Given the description of an element on the screen output the (x, y) to click on. 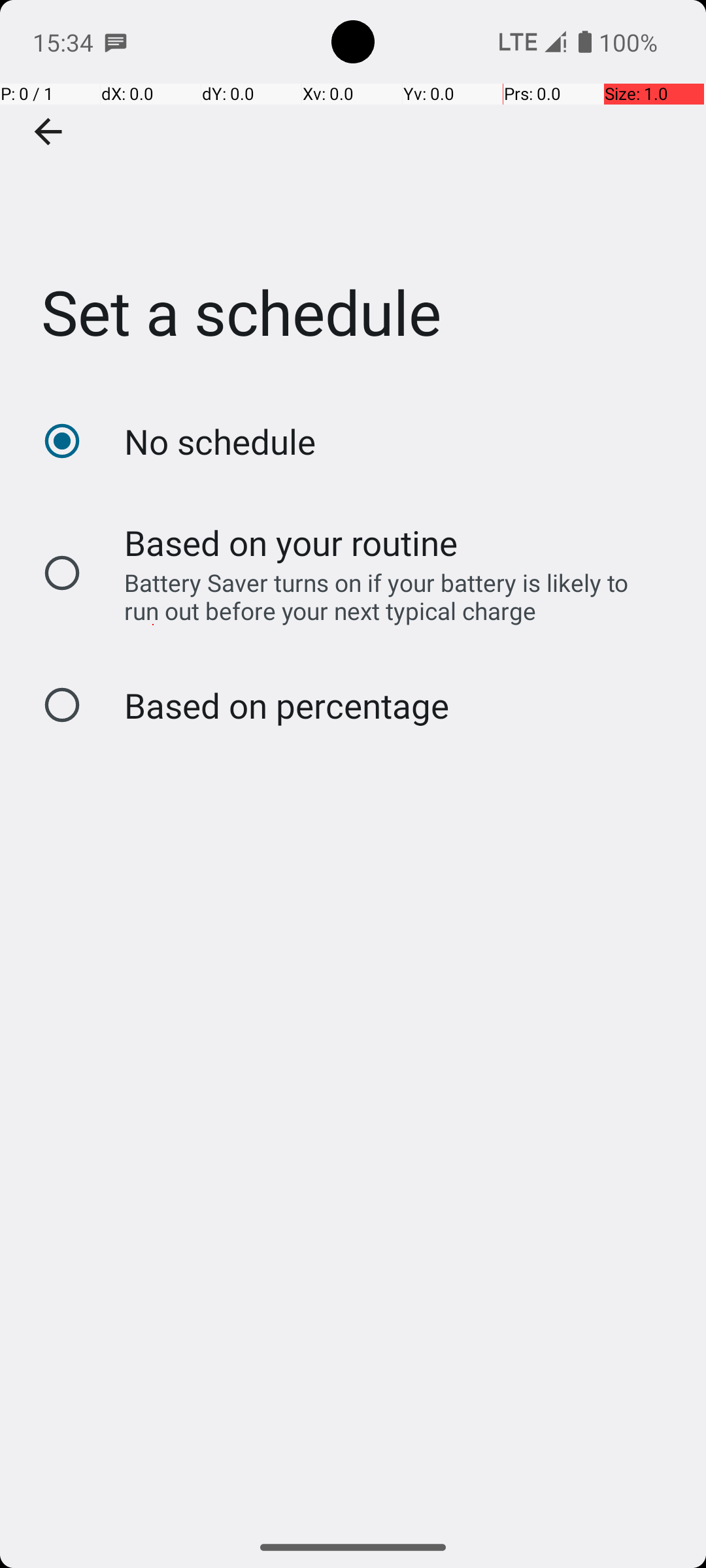
Set a schedule Element type: android.widget.FrameLayout (353, 195)
No schedule Element type: android.widget.TextView (219, 441)
Based on your routine Element type: android.widget.TextView (291, 542)
Battery Saver turns on if your battery is likely to run out before your next typical charge Element type: android.widget.TextView (387, 596)
Based on percentage Element type: android.widget.TextView (286, 705)
SMS Messenger notification: Juan Alves Element type: android.widget.ImageView (115, 41)
